Given the description of an element on the screen output the (x, y) to click on. 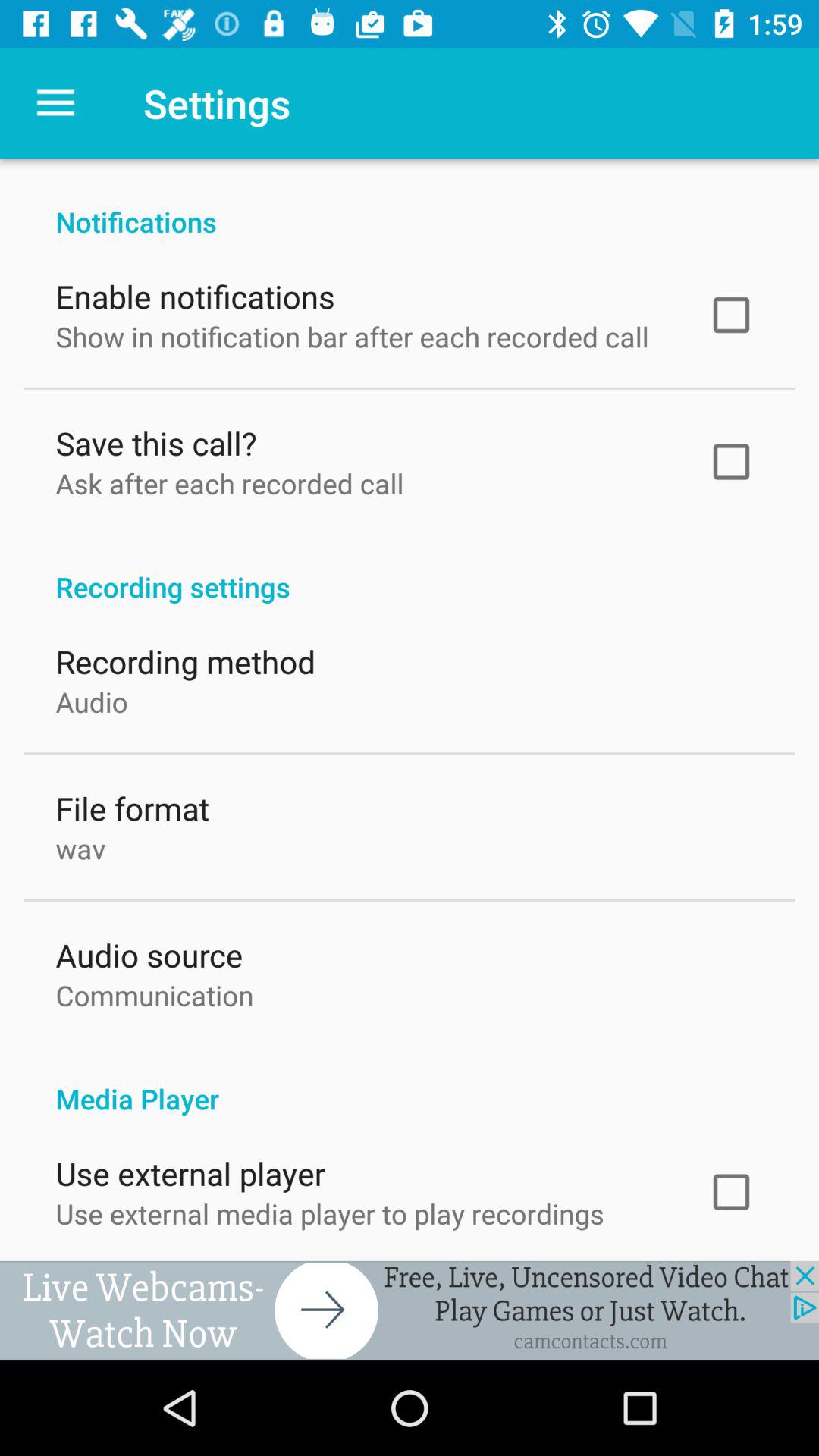
advertisement choice (409, 1310)
